Given the description of an element on the screen output the (x, y) to click on. 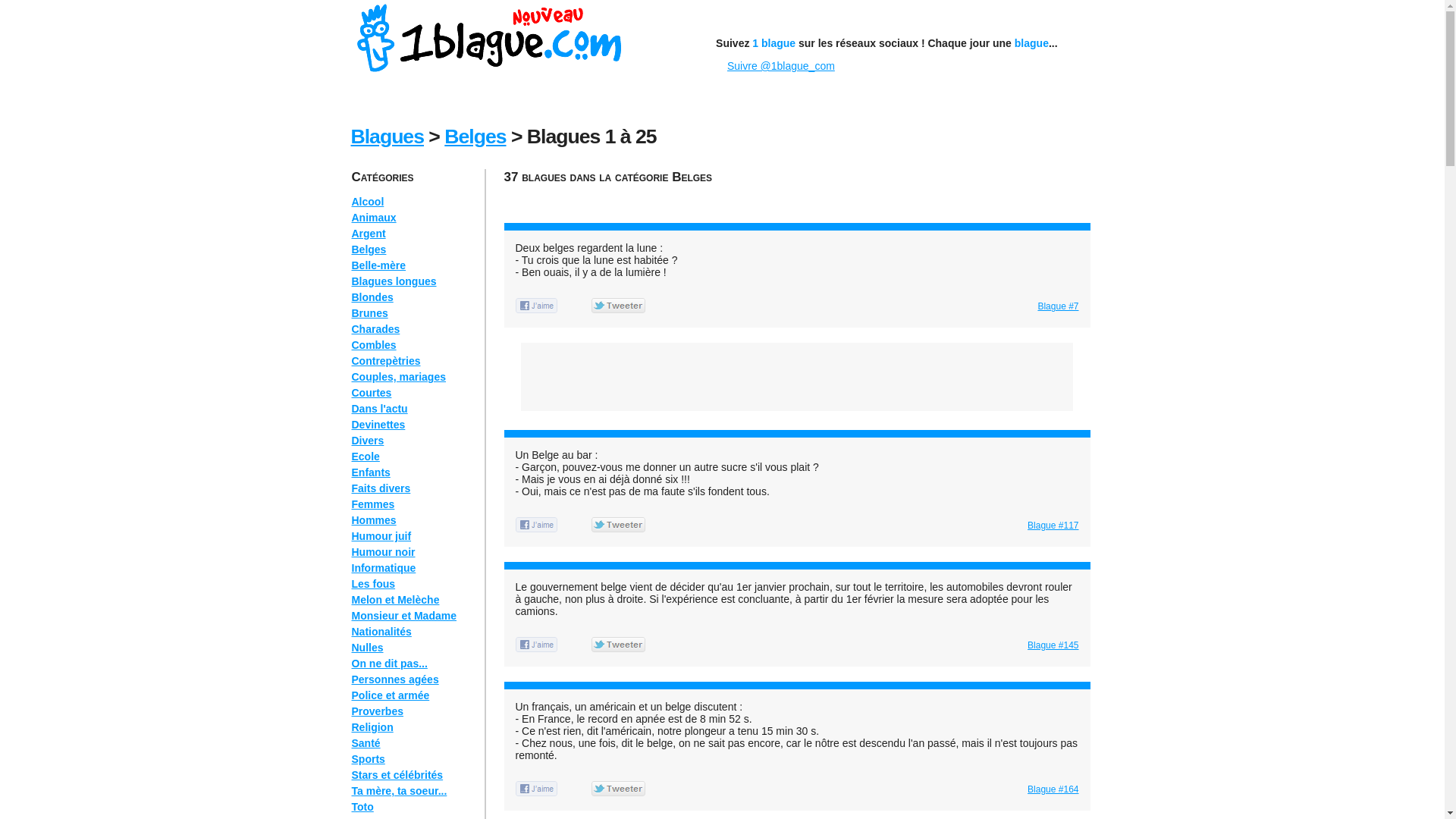
Blagues Element type: text (386, 136)
Advertisement Element type: hover (796, 376)
Blague #145 Element type: text (1052, 645)
Devinettes Element type: text (378, 424)
Combles Element type: text (373, 344)
Sports Element type: text (368, 759)
Enfants Element type: text (370, 472)
Femmes Element type: text (373, 504)
Blague #117 Element type: text (1052, 525)
Charades Element type: text (375, 329)
Couples, mariages Element type: text (398, 376)
Blagues longues Element type: text (393, 281)
Courtes Element type: text (371, 392)
Suivre @1blague_com Element type: text (780, 65)
Les fous Element type: text (373, 583)
Faits divers Element type: text (381, 488)
Nulles Element type: text (367, 647)
Humour noir Element type: text (383, 552)
Ecole Element type: text (365, 456)
Toto Element type: text (362, 806)
Monsieur et Madame Element type: text (403, 615)
Advertisement Element type: hover (779, 197)
On ne dit pas... Element type: text (389, 663)
Divers Element type: text (367, 440)
Proverbes Element type: text (377, 711)
Humour juif Element type: text (381, 536)
Blague #7 Element type: text (1057, 306)
Religion Element type: text (372, 727)
Brunes Element type: text (369, 313)
Alcool Element type: text (367, 201)
Informatique Element type: text (383, 567)
Hommes Element type: text (373, 520)
Belges Element type: text (368, 249)
Argent Element type: text (368, 233)
Animaux Element type: text (373, 217)
Belges Element type: text (474, 136)
Blondes Element type: text (372, 297)
Blague #164 Element type: text (1052, 789)
Dans l'actu Element type: text (379, 408)
